Given the description of an element on the screen output the (x, y) to click on. 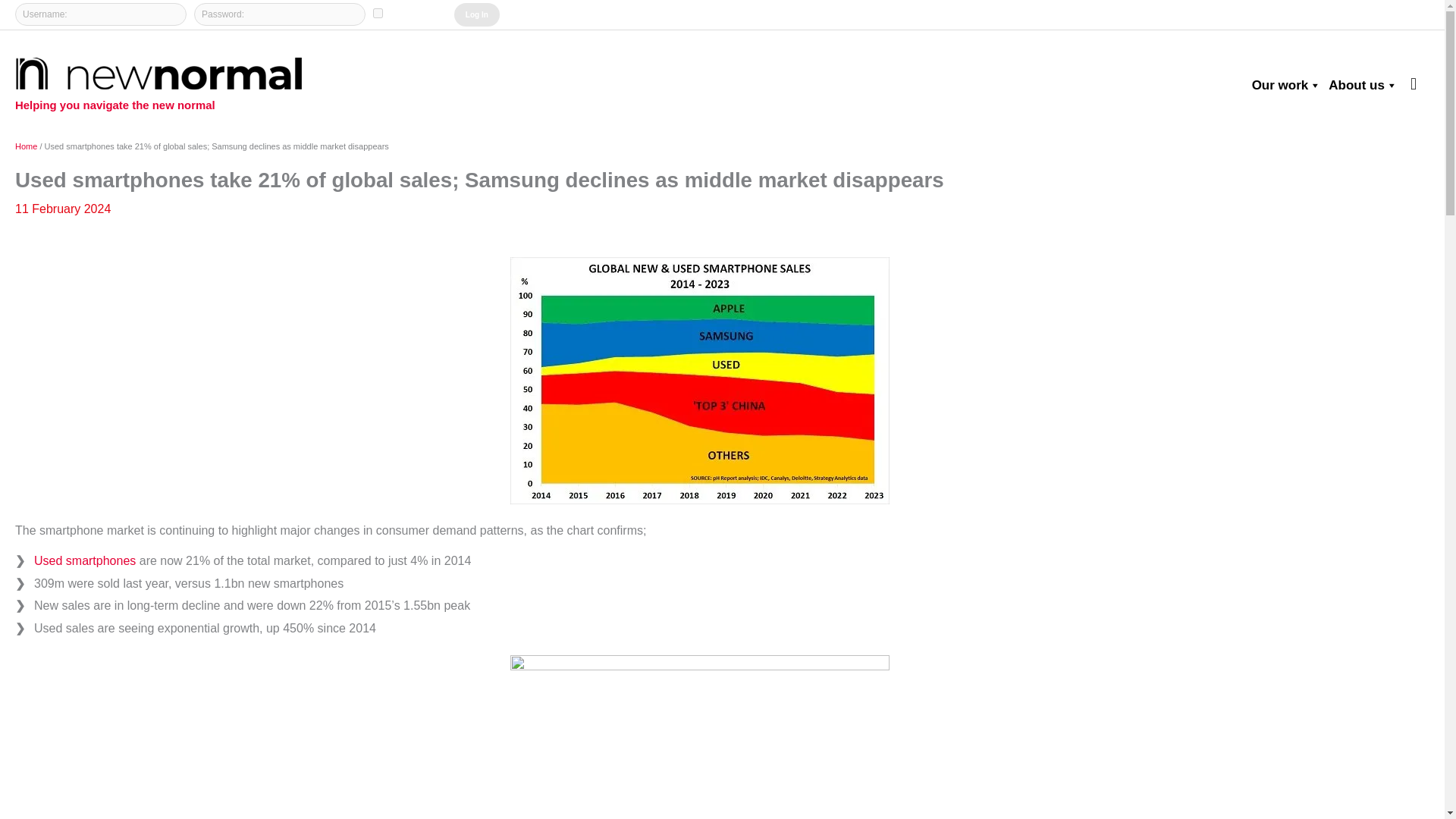
Our work (1283, 85)
forever (377, 13)
Search (1413, 84)
Home (25, 145)
Used smartphones (84, 560)
About us (1358, 85)
Log In (476, 14)
